Given the description of an element on the screen output the (x, y) to click on. 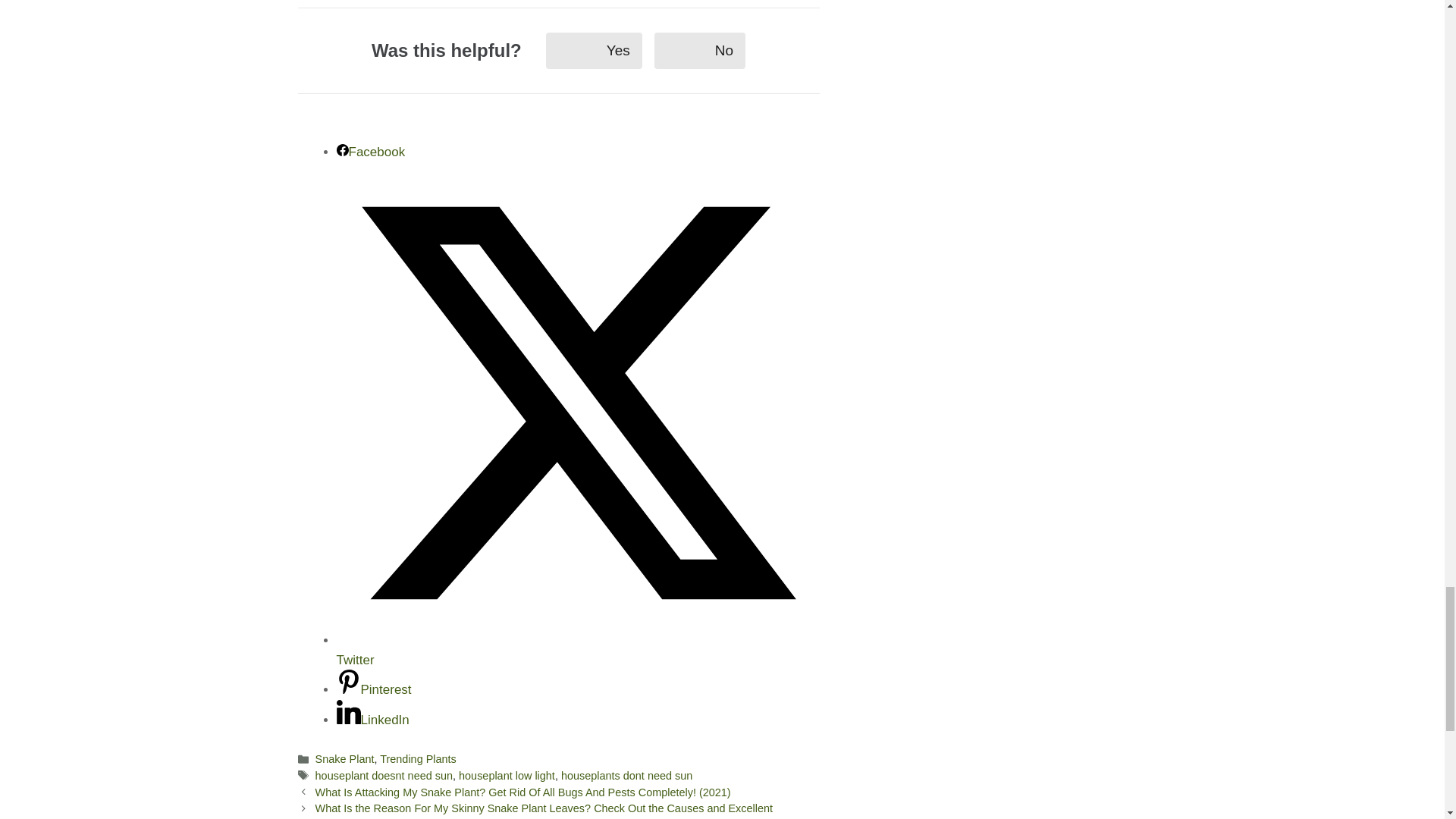
Share on Twitter (577, 650)
Twitter (577, 650)
Share on Facebook (371, 151)
Facebook (371, 151)
